Given the description of an element on the screen output the (x, y) to click on. 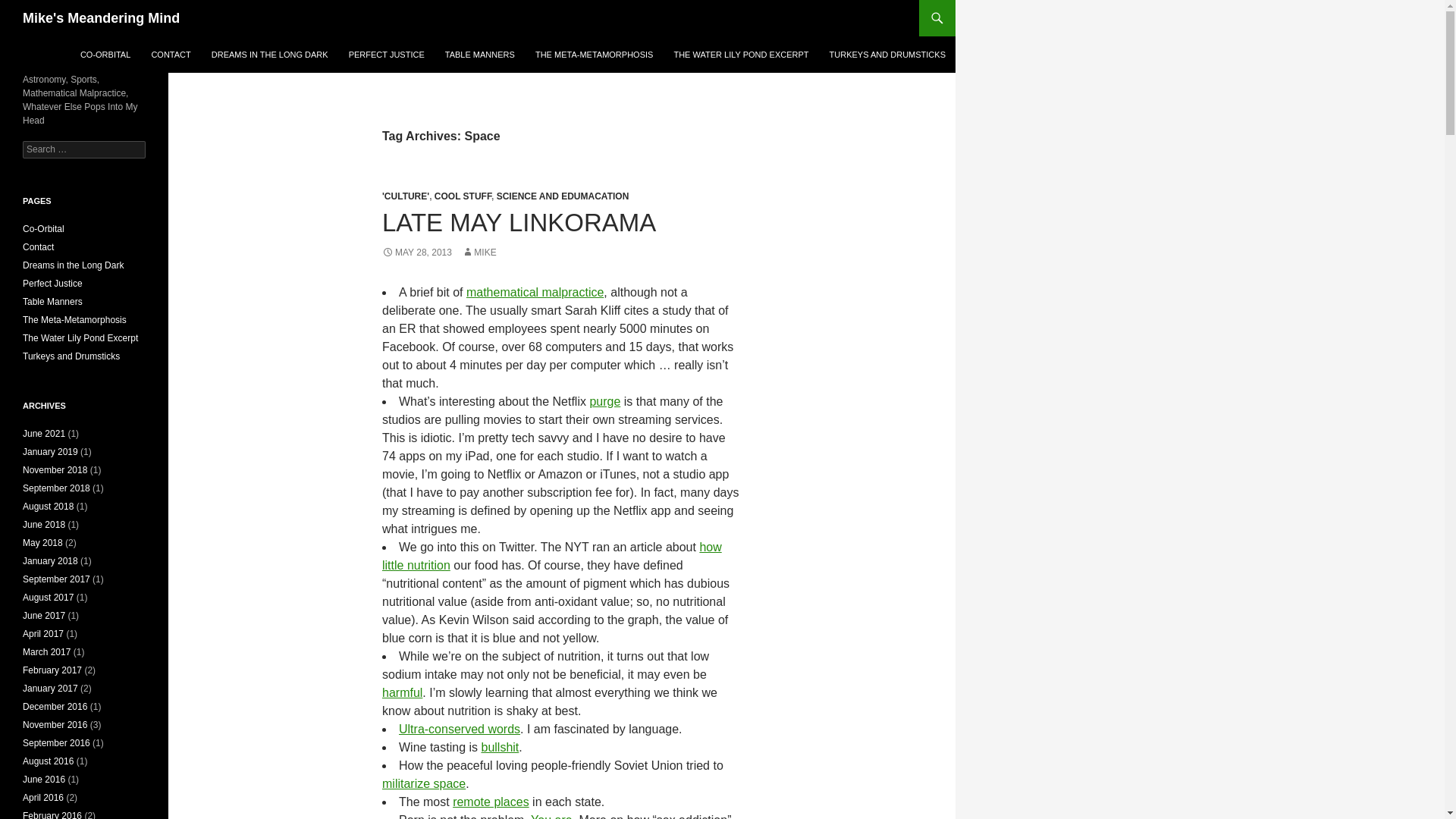
how little nutrition (551, 555)
PERFECT JUSTICE (386, 54)
TURKEYS AND DRUMSTICKS (888, 54)
MAY 28, 2013 (416, 252)
You are (551, 816)
MIKE (478, 252)
TABLE MANNERS (479, 54)
LATE MAY LINKORAMA (518, 222)
CONTACT (170, 54)
COOL STUFF (462, 195)
